Given the description of an element on the screen output the (x, y) to click on. 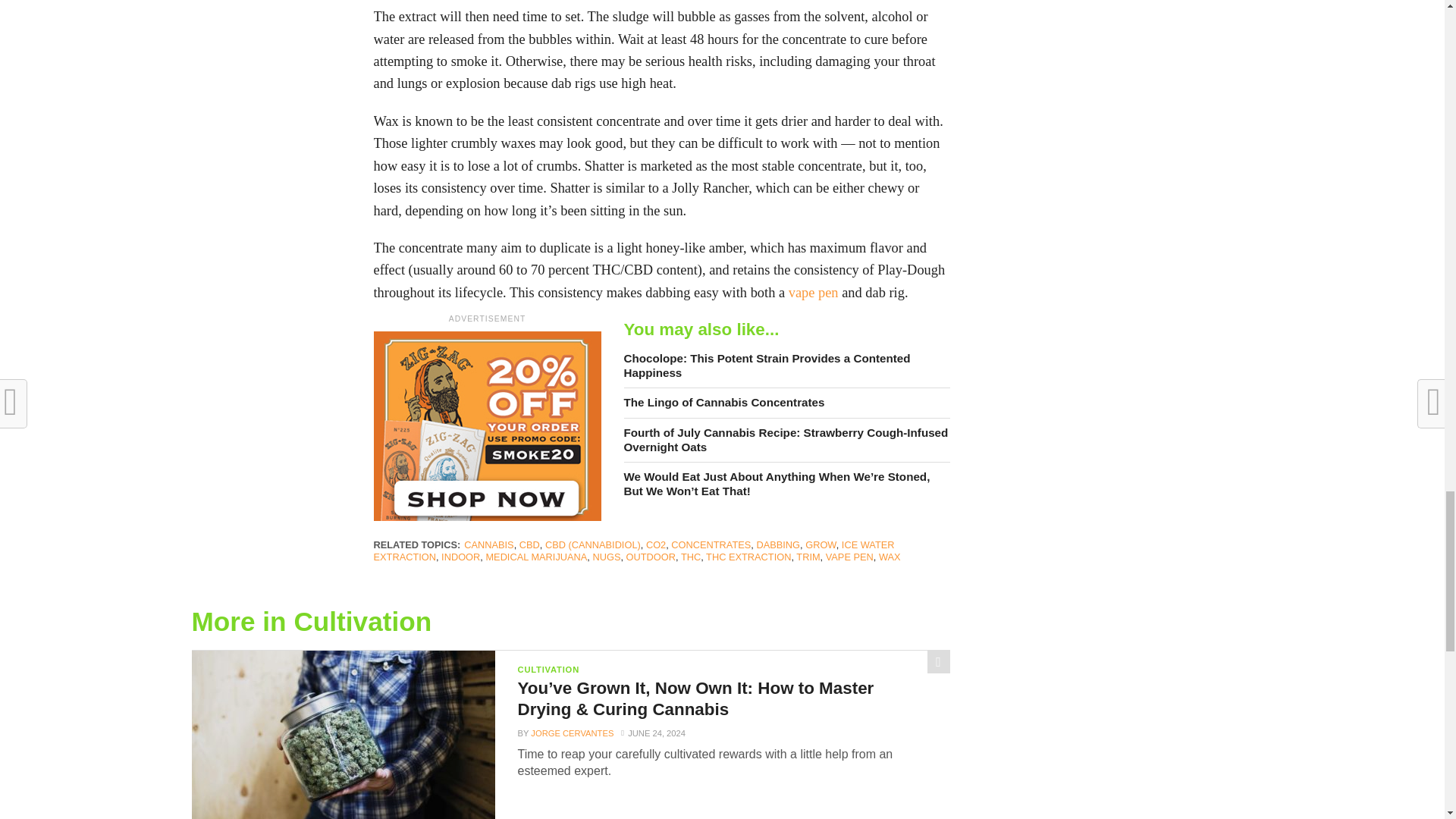
Posts by Jorge Cervantes (571, 732)
